Given the description of an element on the screen output the (x, y) to click on. 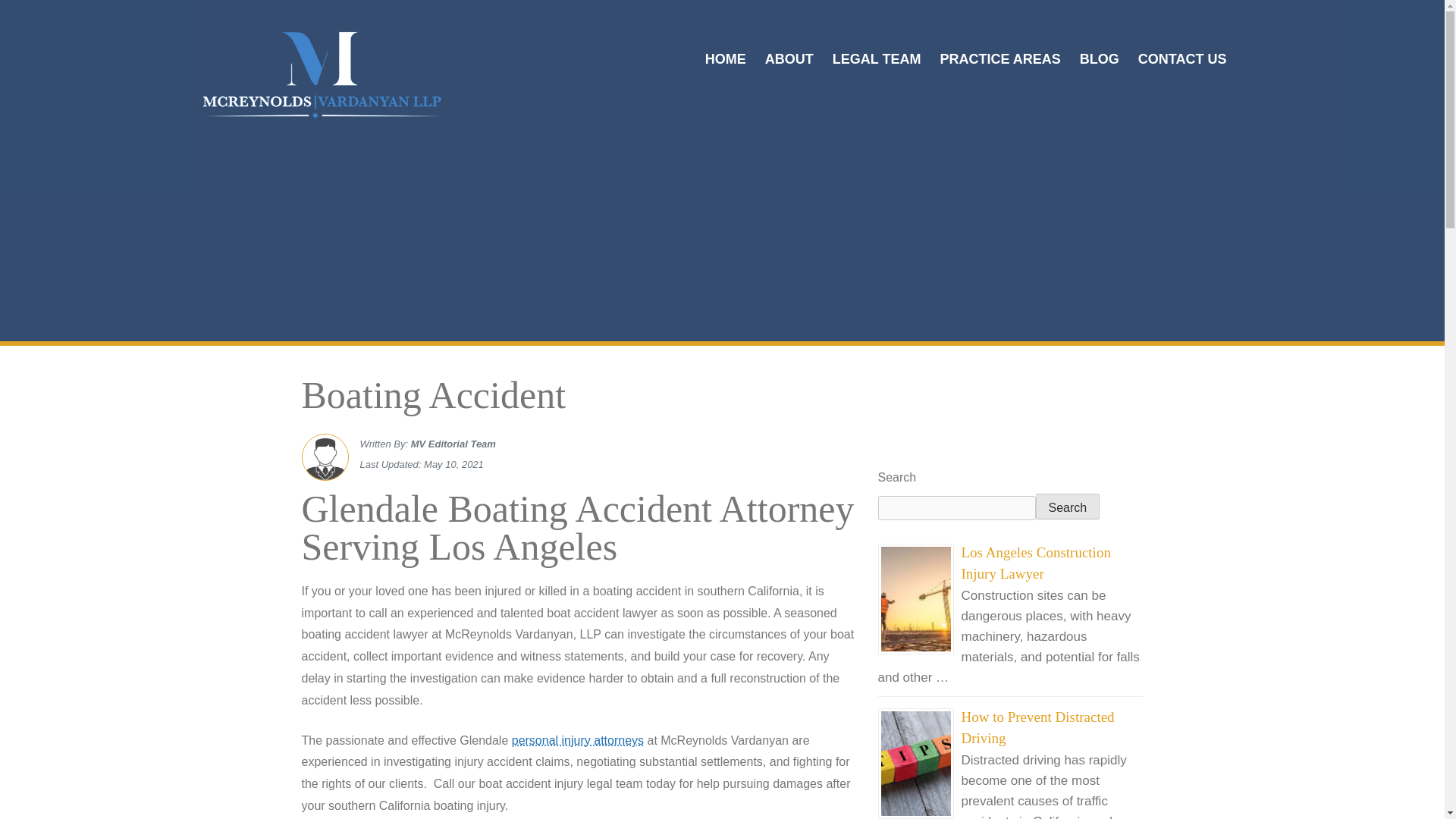
CONTACT US (1182, 58)
MV Editorial Team (453, 443)
PRACTICE AREAS (999, 58)
personal injury attorneys (577, 739)
LEGAL TEAM (876, 58)
Search (1067, 506)
Los Angeles Construction Injury Lawyer (1035, 563)
How to Prevent Distracted Driving (1037, 727)
